Given the description of an element on the screen output the (x, y) to click on. 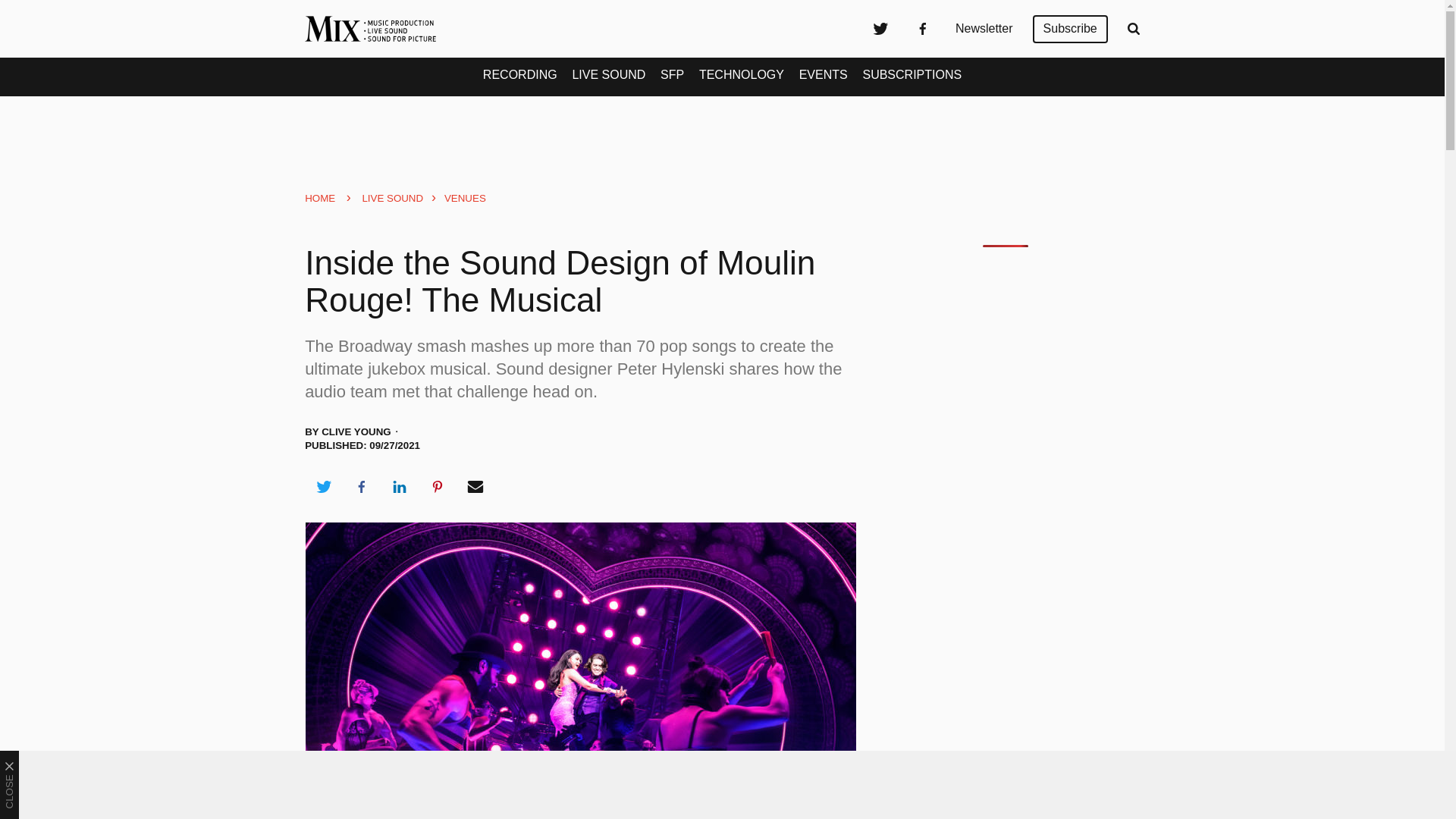
Share on Facebook (361, 486)
Share on Pinterest (438, 486)
Share via Email (476, 486)
Share on Twitter (323, 486)
Share on LinkedIn (399, 486)
